Given the description of an element on the screen output the (x, y) to click on. 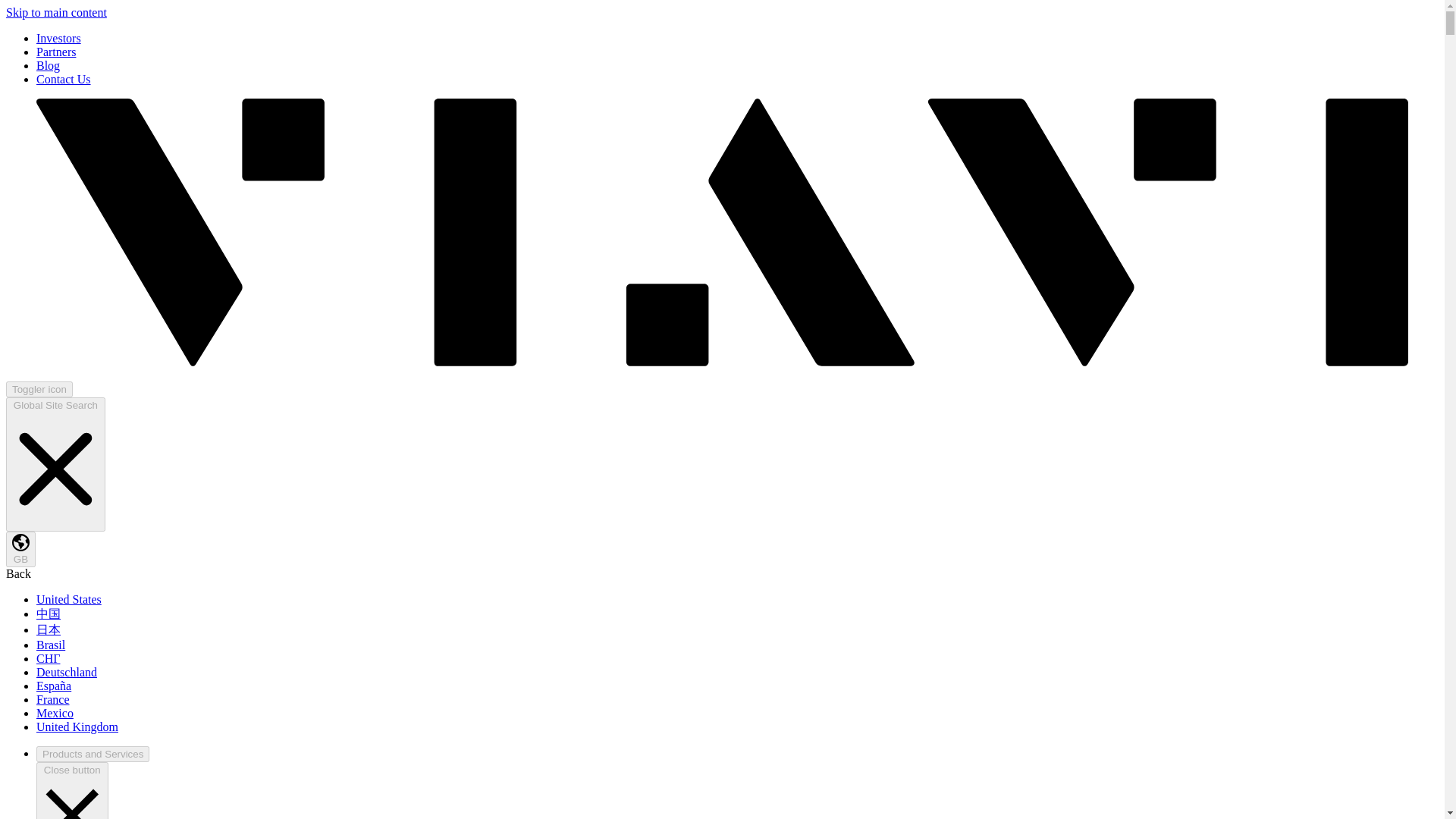
Skip to main content (55, 11)
Close button (71, 790)
Global Site Search (54, 464)
Products and Services (92, 754)
Contact Us (63, 78)
United States (68, 599)
Mexico (55, 712)
Deutschland (66, 671)
GB (19, 549)
Investors (58, 38)
Partners (55, 51)
France (52, 698)
